Given the description of an element on the screen output the (x, y) to click on. 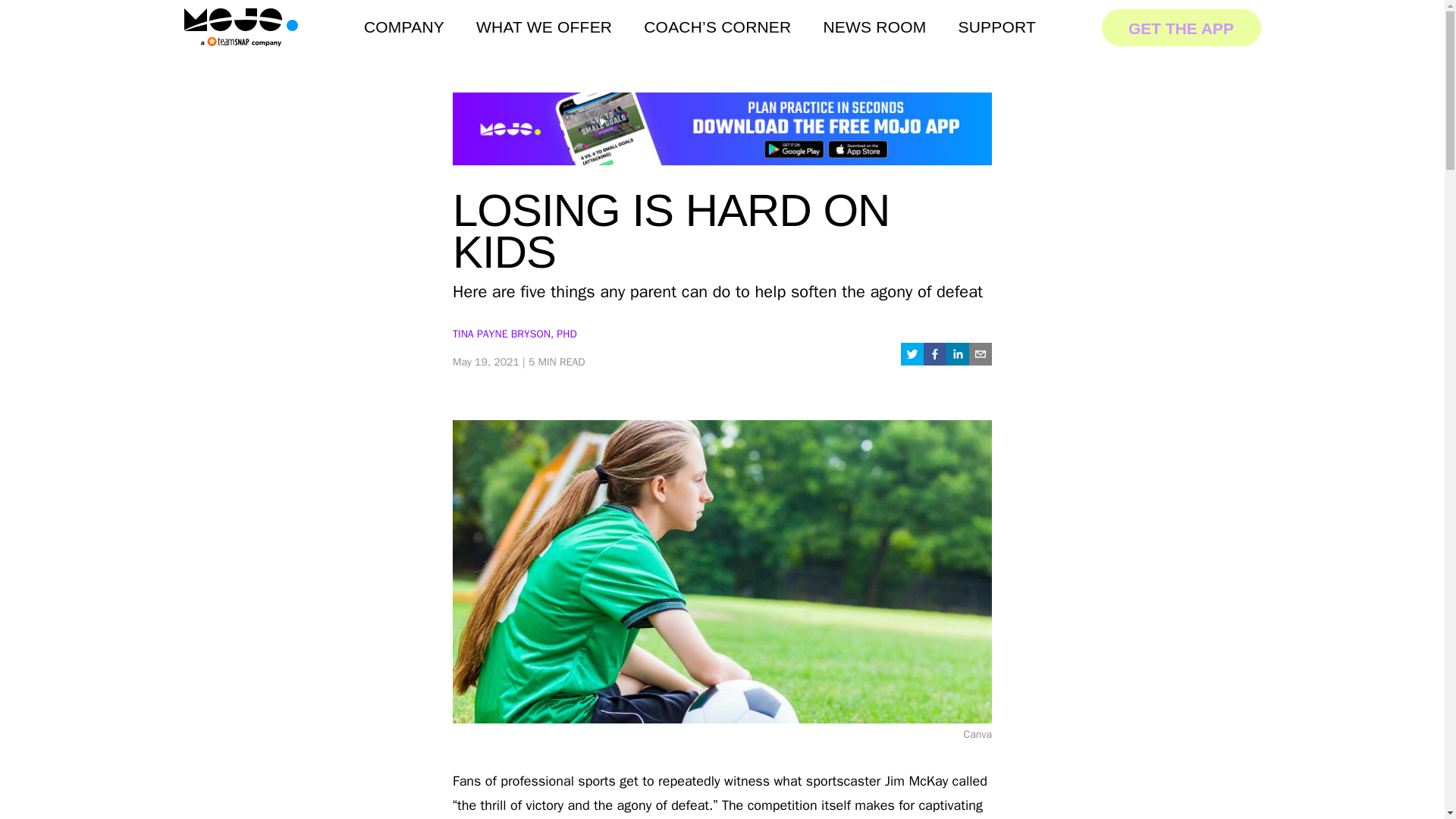
NEWS ROOM (874, 26)
WHAT WE OFFER (543, 26)
SUPPORT (996, 26)
GET THE APP (1180, 26)
GET THE APP (1180, 27)
COMPANY (404, 26)
